Given the description of an element on the screen output the (x, y) to click on. 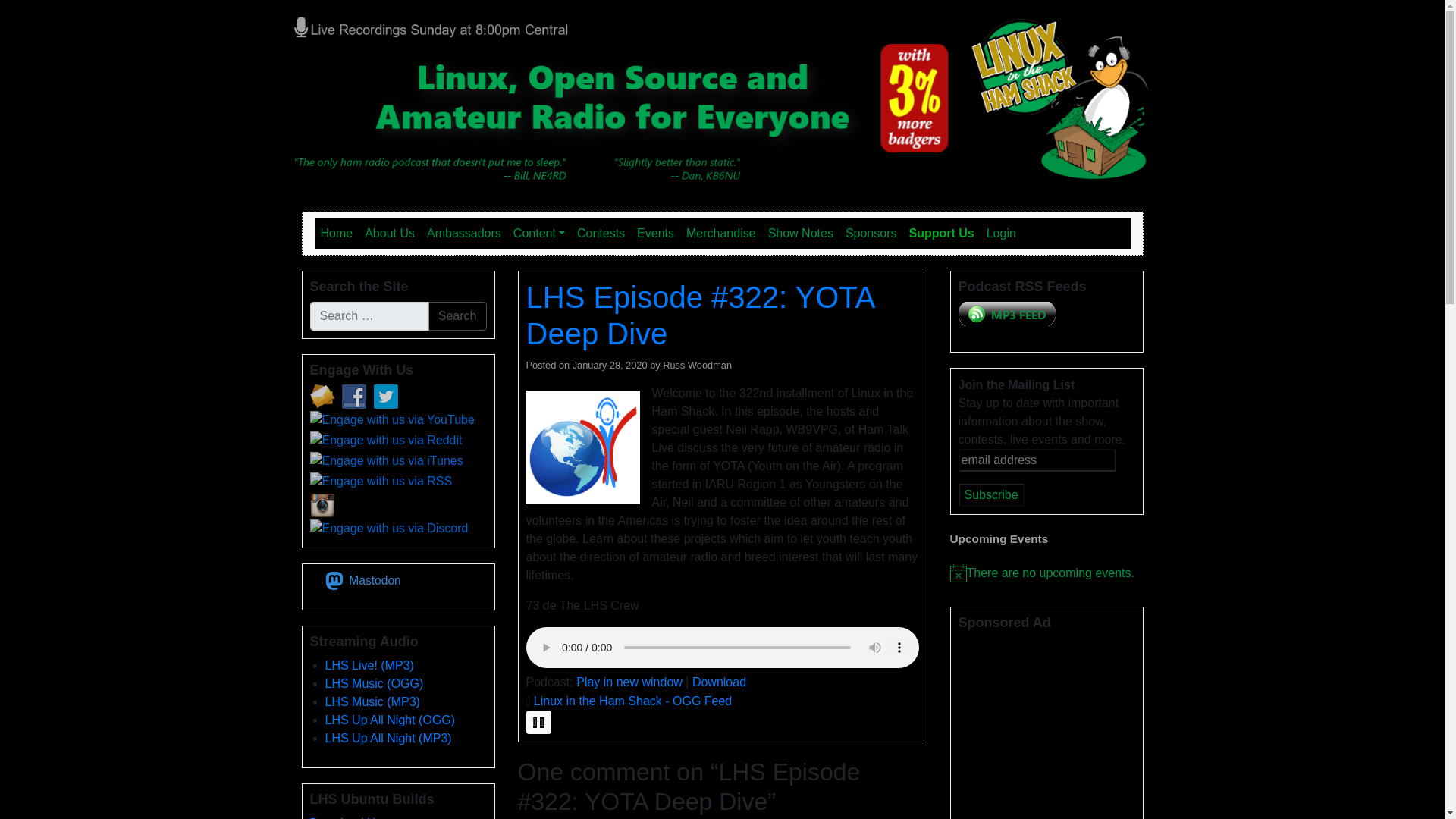
Engage with us via Twitter (384, 396)
Engage with us via YouTube (391, 420)
Ambassadors (463, 233)
Search (457, 316)
Sponsors (871, 233)
Engage with us via Discord (387, 528)
Engage with us via Facebook (352, 396)
Linux in the Ham Shack (461, 25)
Engage with us via E-mail (320, 396)
Contests (600, 233)
